Given the description of an element on the screen output the (x, y) to click on. 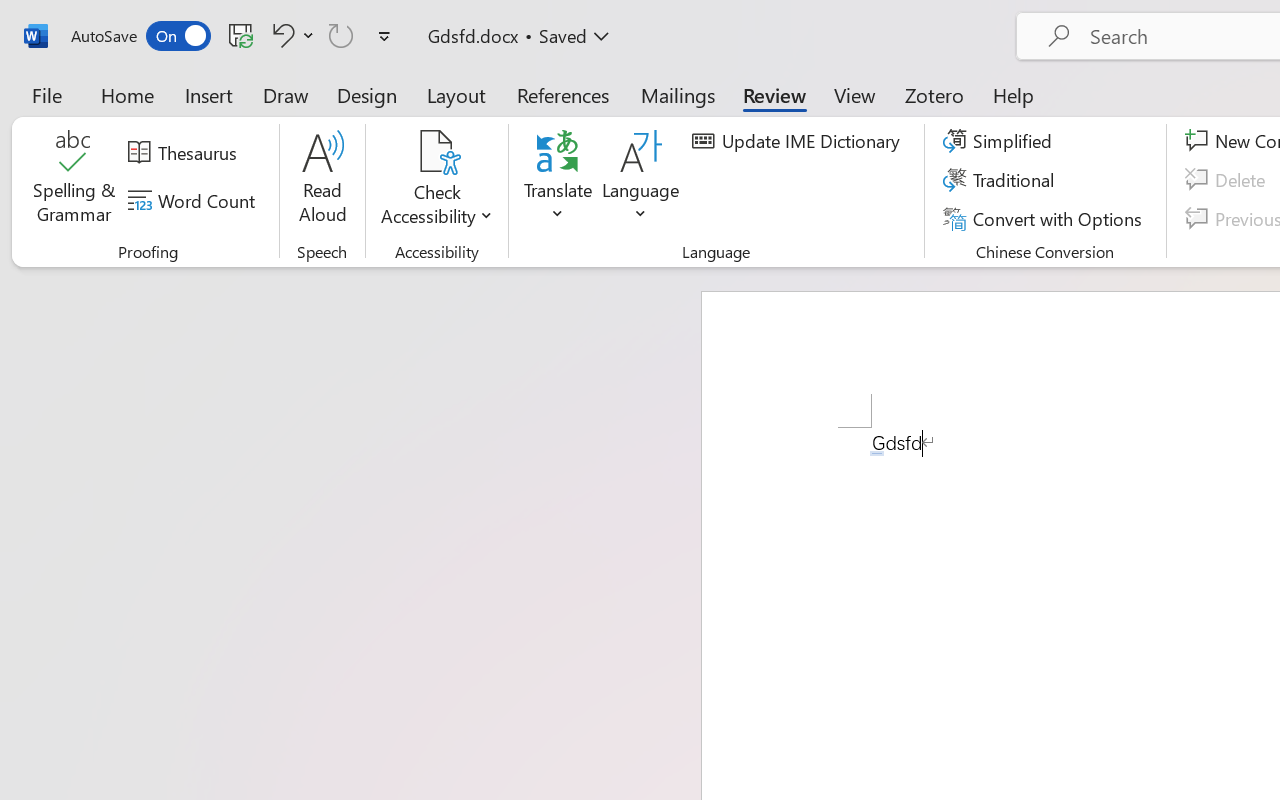
Can't Repeat (341, 35)
Language (641, 179)
Convert with Options... (1045, 218)
Read Aloud (322, 179)
Delete (1227, 179)
Spelling & Grammar (74, 180)
Thesaurus... (185, 153)
